Given the description of an element on the screen output the (x, y) to click on. 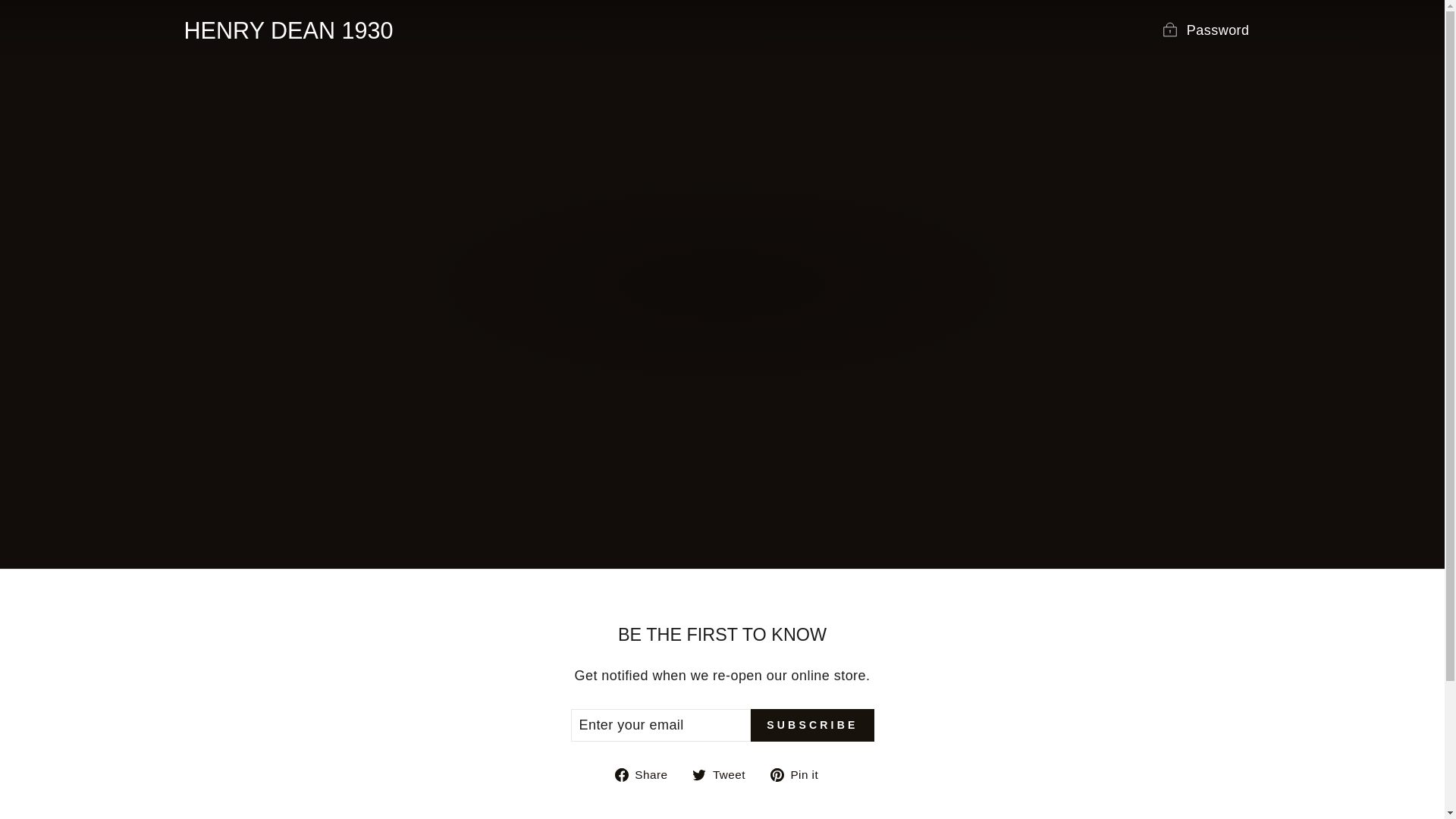
SUBSCRIBE (812, 725)
Share on Facebook (799, 773)
Tweet on Twitter (646, 773)
Pin on Pinterest (725, 773)
Skip to content (725, 773)
